Given the description of an element on the screen output the (x, y) to click on. 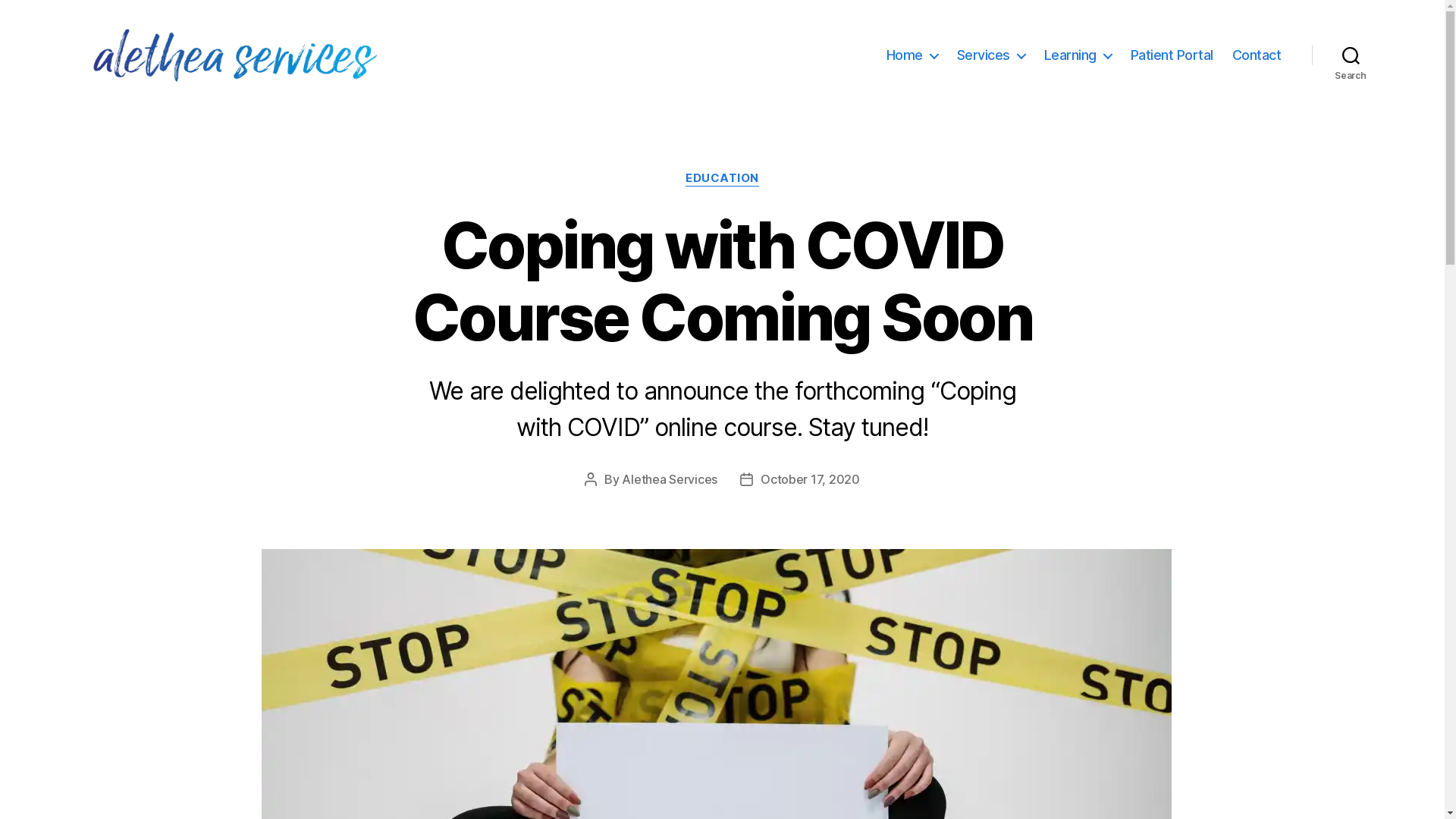
Alethea Services Element type: text (669, 478)
October 17, 2020 Element type: text (809, 478)
Home Element type: text (912, 55)
Learning Element type: text (1077, 55)
Services Element type: text (991, 55)
EDUCATION Element type: text (722, 178)
Search Element type: text (1350, 55)
Patient Portal Element type: text (1171, 55)
Contact Element type: text (1256, 55)
